Given the description of an element on the screen output the (x, y) to click on. 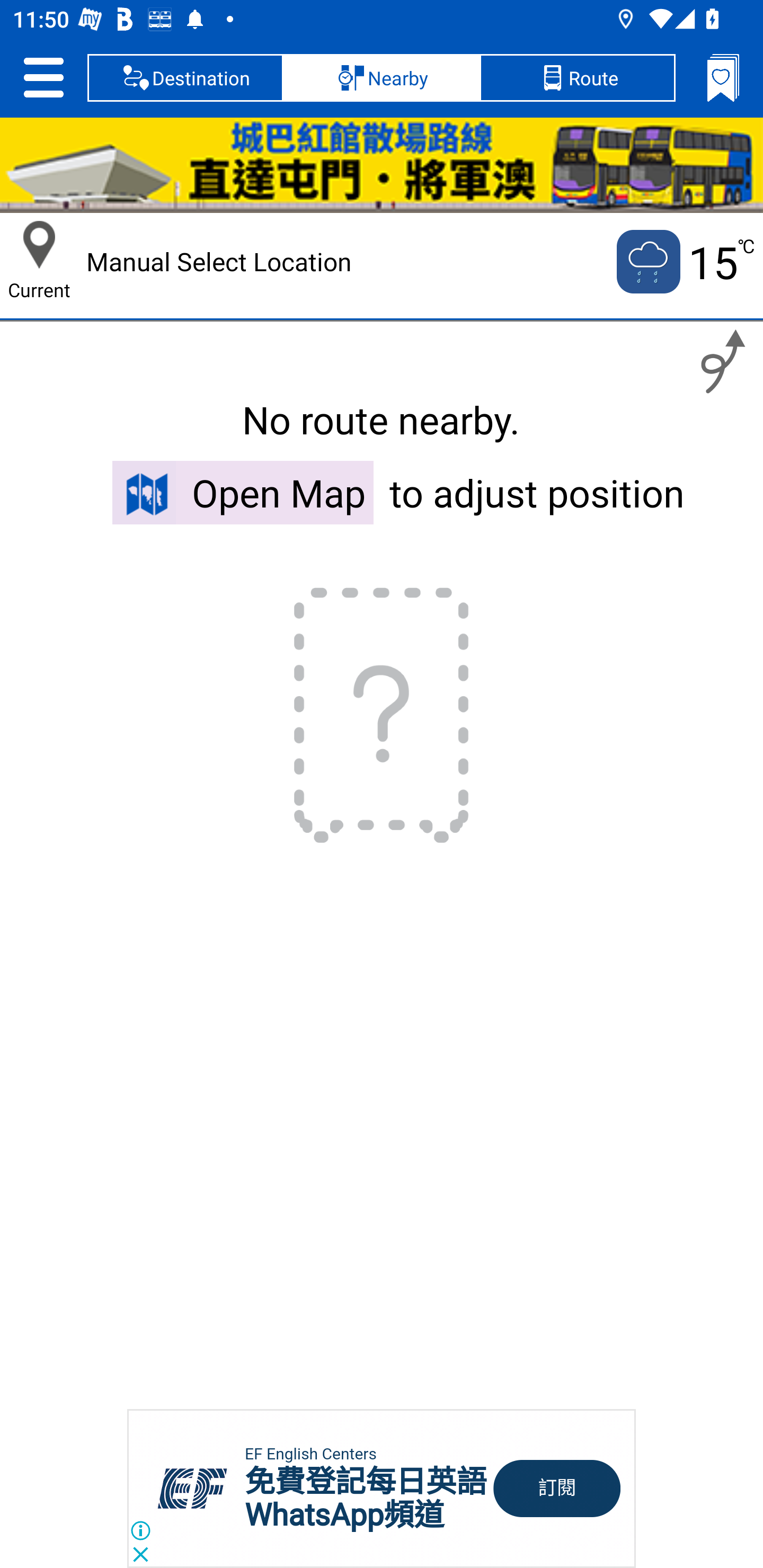
Destination (185, 77)
Nearby, selected (381, 77)
Route (577, 77)
Bookmarks (723, 77)
Setting (43, 77)
HKC (381, 165)
Current Location (38, 244)
Current temputure is  15  no 15 ℃ (684, 261)
Open Map (242, 491)
EF English Centers (310, 1454)
訂閱 (556, 1488)
免費登記每日英語 WhatsApp頻道 免費登記每日英語 WhatsApp頻道 (365, 1497)
